Given the description of an element on the screen output the (x, y) to click on. 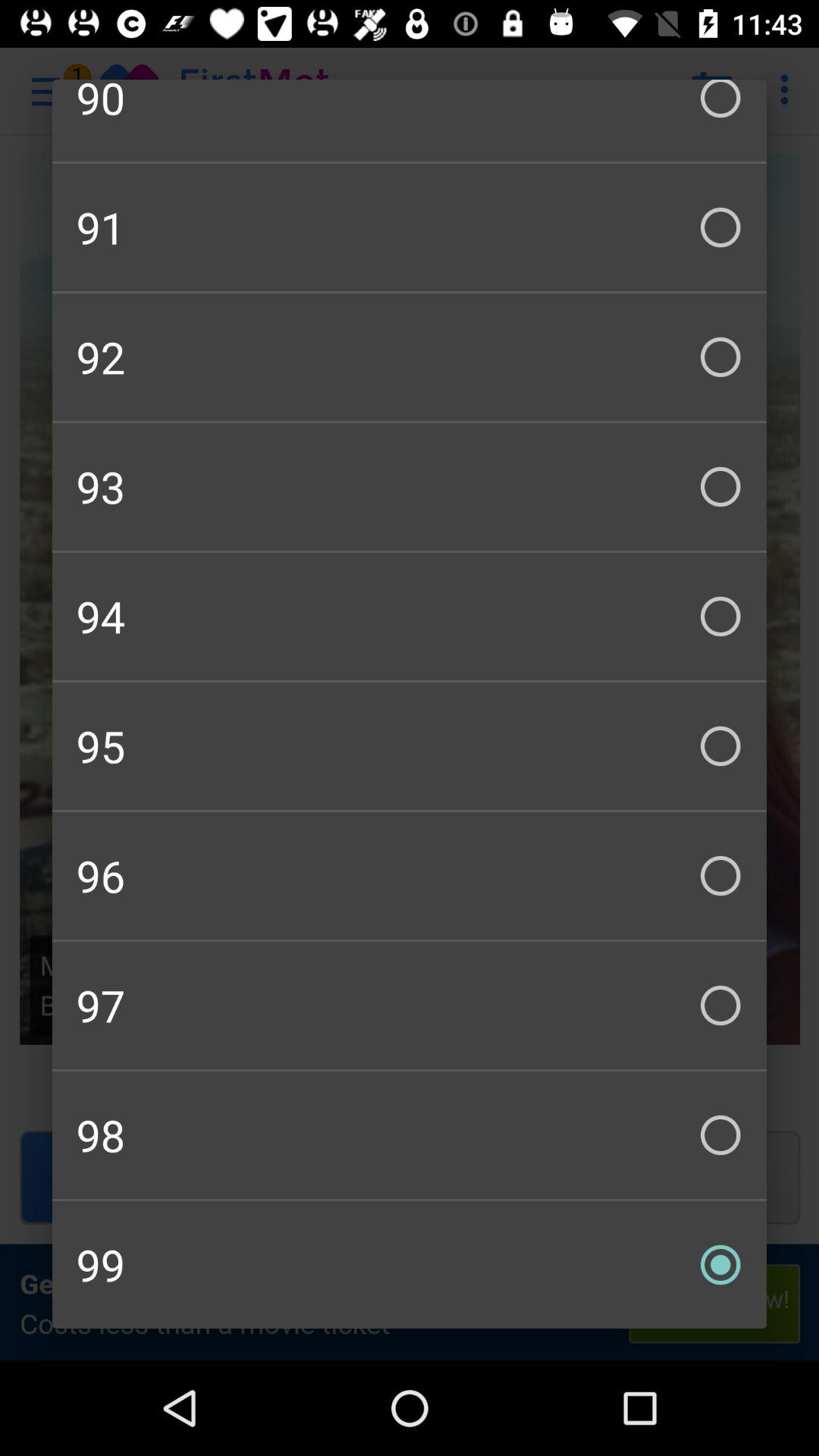
click the item above 91 checkbox (409, 120)
